Given the description of an element on the screen output the (x, y) to click on. 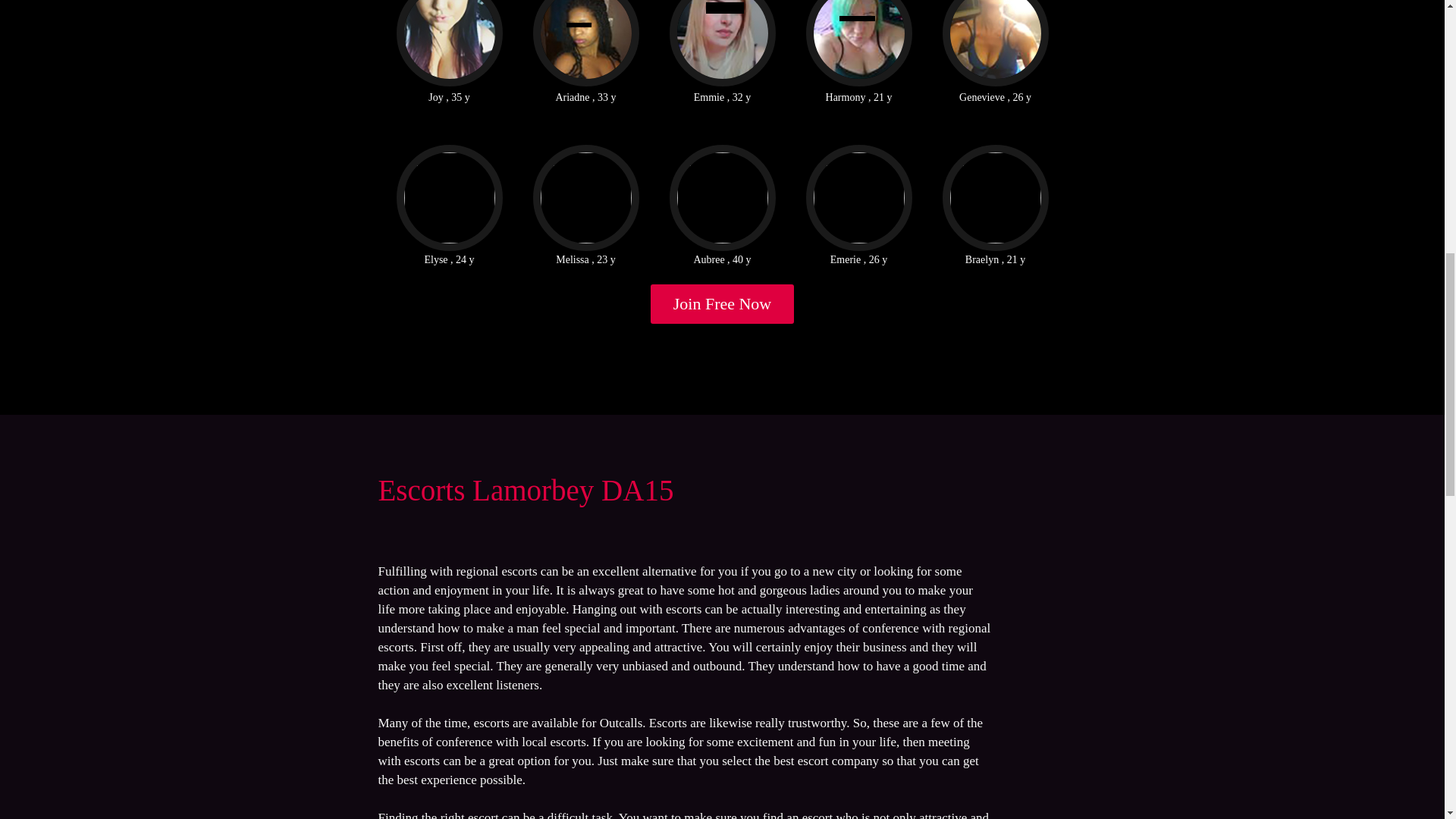
Join (722, 303)
Escorts Lamorbey DA15 (524, 490)
Join Free Now (722, 303)
